Given the description of an element on the screen output the (x, y) to click on. 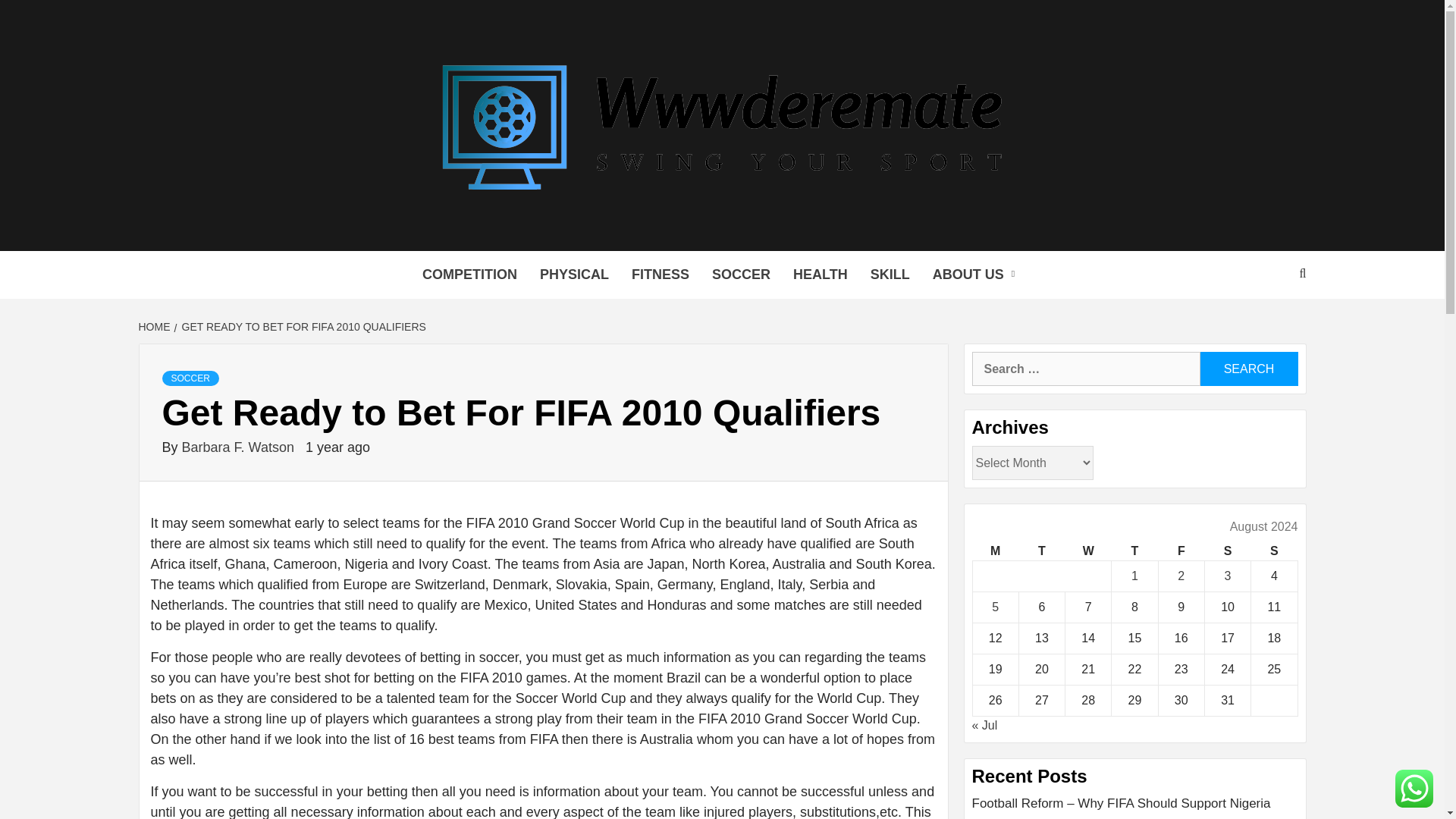
Thursday (1134, 551)
WWWDEREMATE (459, 231)
Barbara F. Watson (240, 447)
HOME (155, 326)
SKILL (890, 274)
COMPETITION (469, 274)
FITNESS (660, 274)
Sunday (1273, 551)
ABOUT US (977, 274)
Search (1248, 368)
Search (1248, 368)
Saturday (1227, 551)
Wednesday (1088, 551)
PHYSICAL (574, 274)
Search (1248, 368)
